Given the description of an element on the screen output the (x, y) to click on. 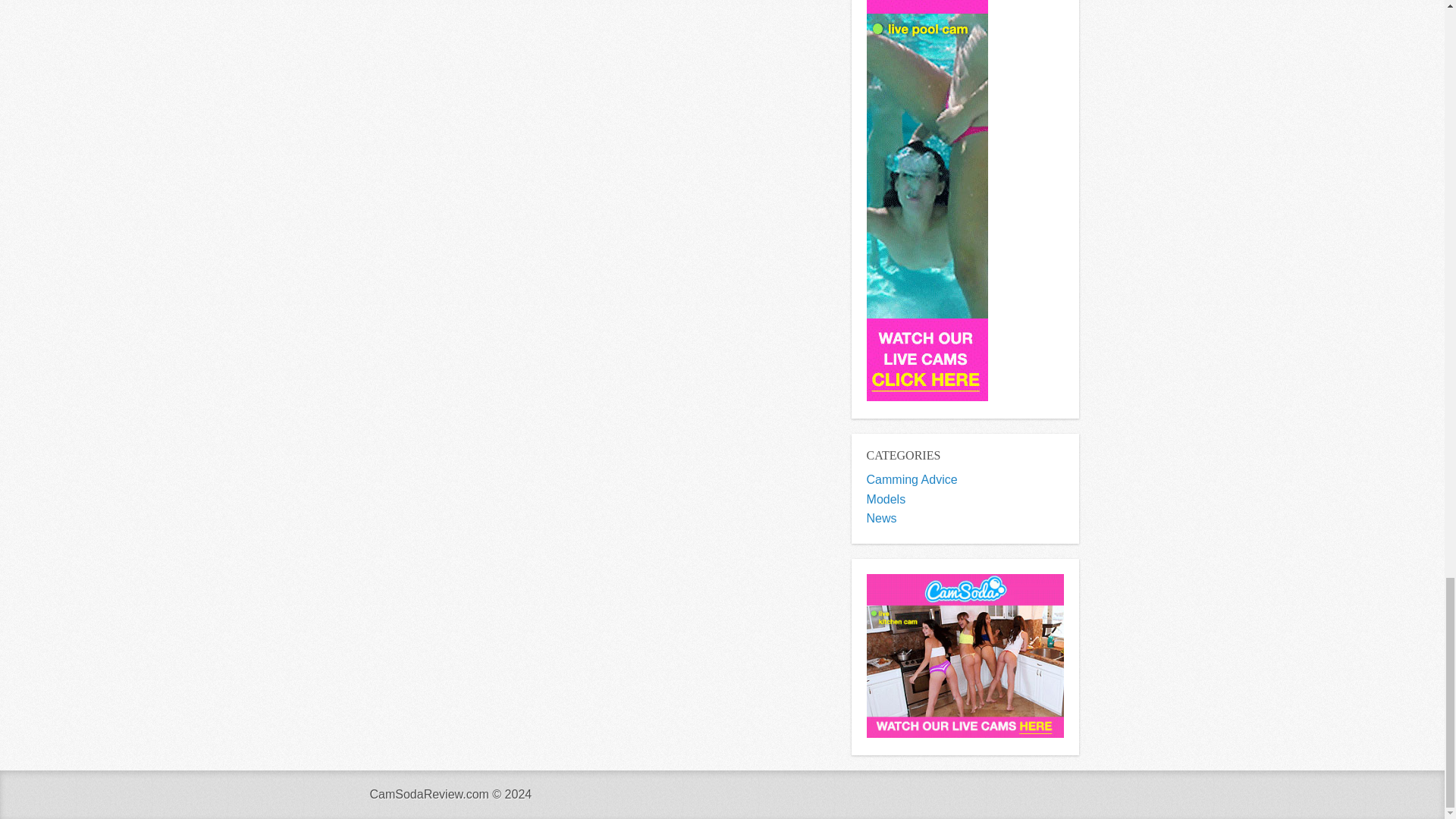
Camming Advice (912, 479)
Models (885, 499)
News (881, 517)
